Given the description of an element on the screen output the (x, y) to click on. 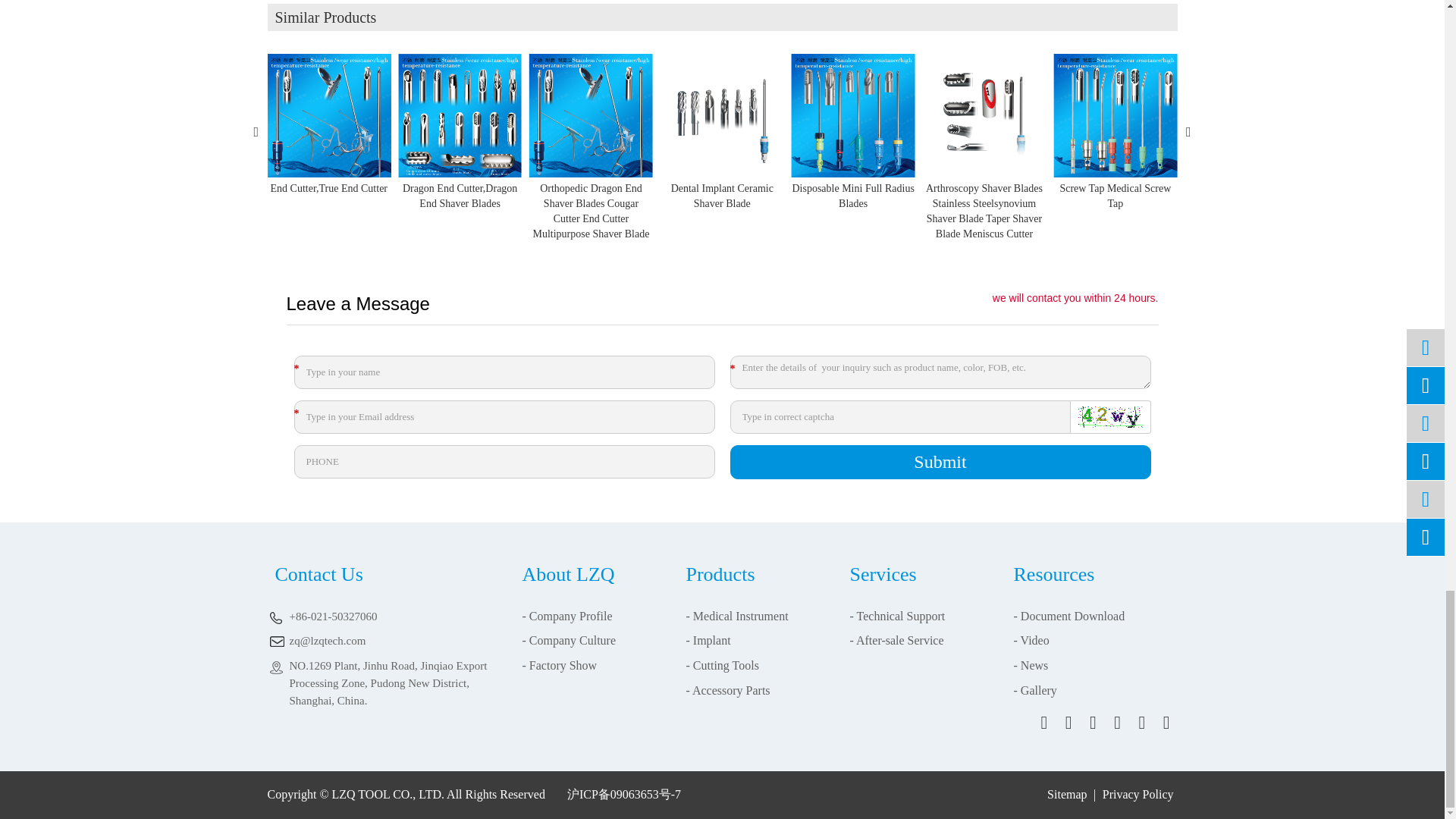
Resources (1068, 615)
Factory Show (558, 665)
Resources (1030, 665)
Resources (1035, 689)
Medical Instrument (736, 615)
Company Profile (566, 615)
Resources (1030, 640)
Cutting Tools (721, 665)
Company Culture (568, 640)
Implant (707, 640)
Accessory Parts (727, 689)
